Given the description of an element on the screen output the (x, y) to click on. 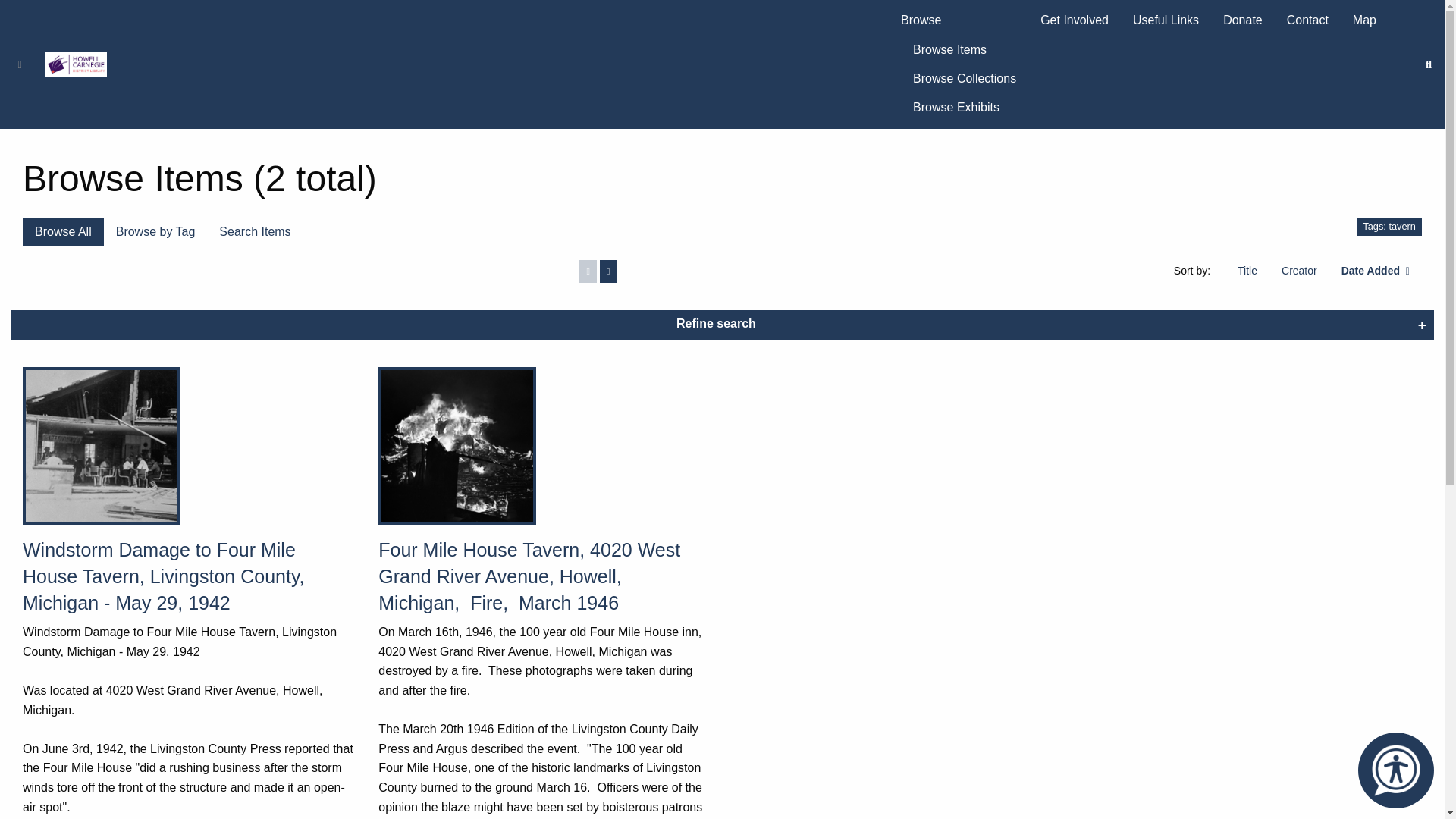
Browse (957, 20)
Sorting descending (1374, 270)
Logo (75, 64)
Contact (1307, 20)
Sort ascending (1299, 270)
Launch Recite Me (1396, 769)
Launch Recite Me (1396, 770)
Title (1247, 270)
Sort ascending (1247, 270)
Browse Items (964, 49)
Donate (1243, 20)
Browse Collections (964, 78)
Browse All (63, 231)
Map (1364, 20)
